Given the description of an element on the screen output the (x, y) to click on. 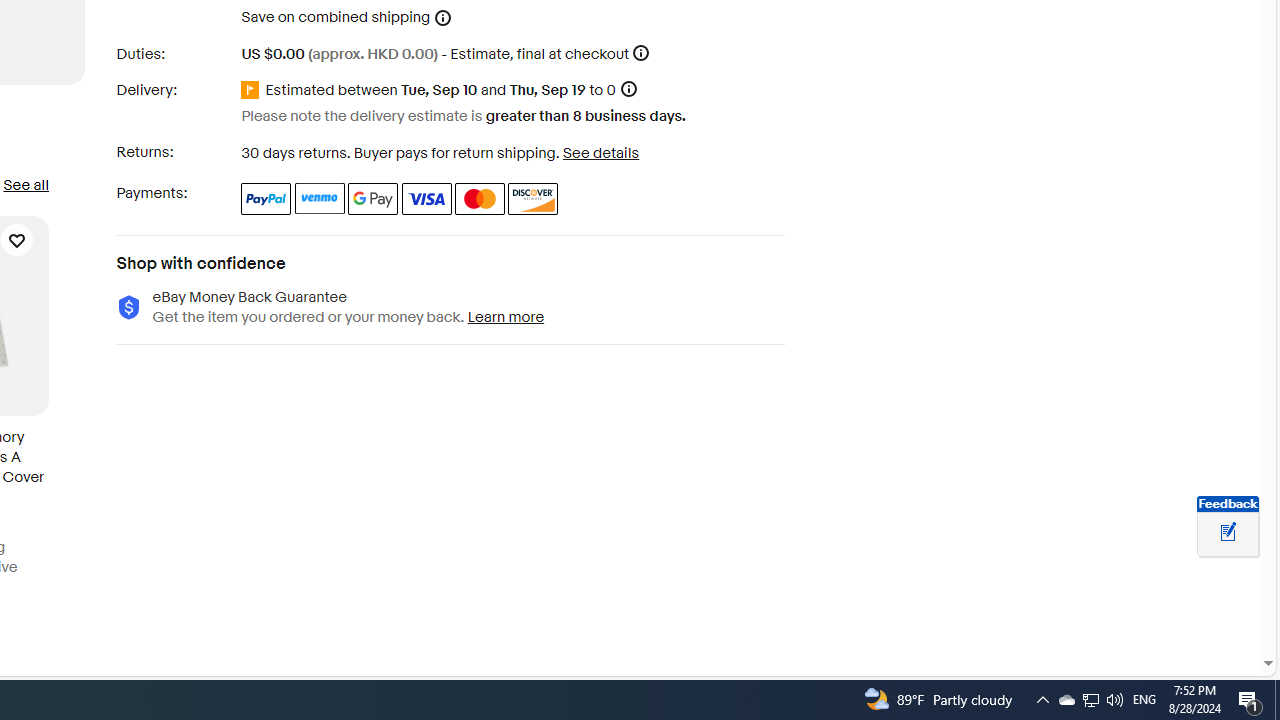
Visa (425, 198)
